Given the description of an element on the screen output the (x, y) to click on. 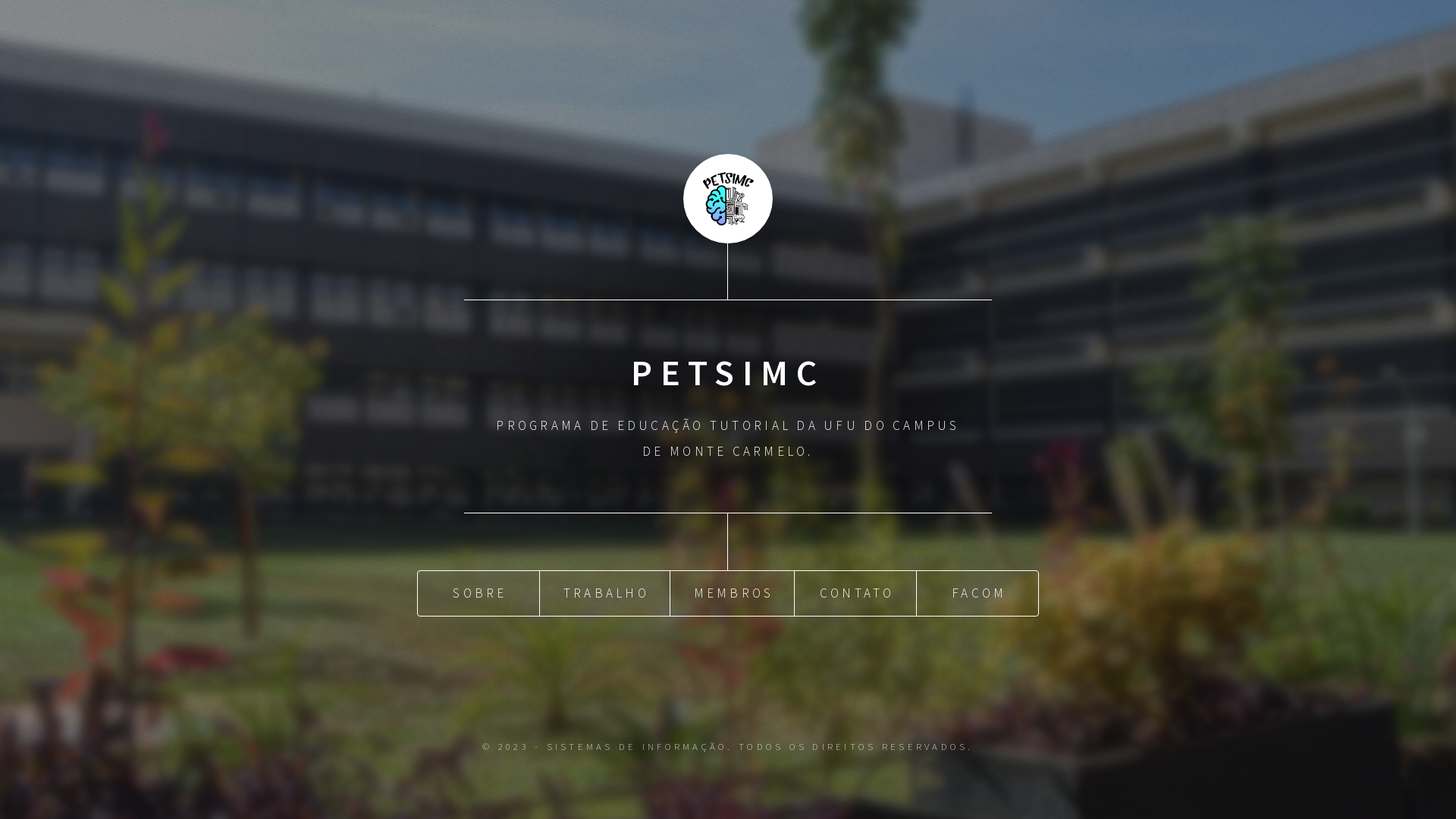
CONTATO Element type: text (855, 593)
UFU Element type: text (840, 425)
MEMBROS Element type: text (731, 593)
TRABALHO Element type: text (604, 593)
SOBRE Element type: text (478, 593)
MONTE CARMELO. Element type: text (741, 450)
FACOM Element type: text (977, 593)
